Given the description of an element on the screen output the (x, y) to click on. 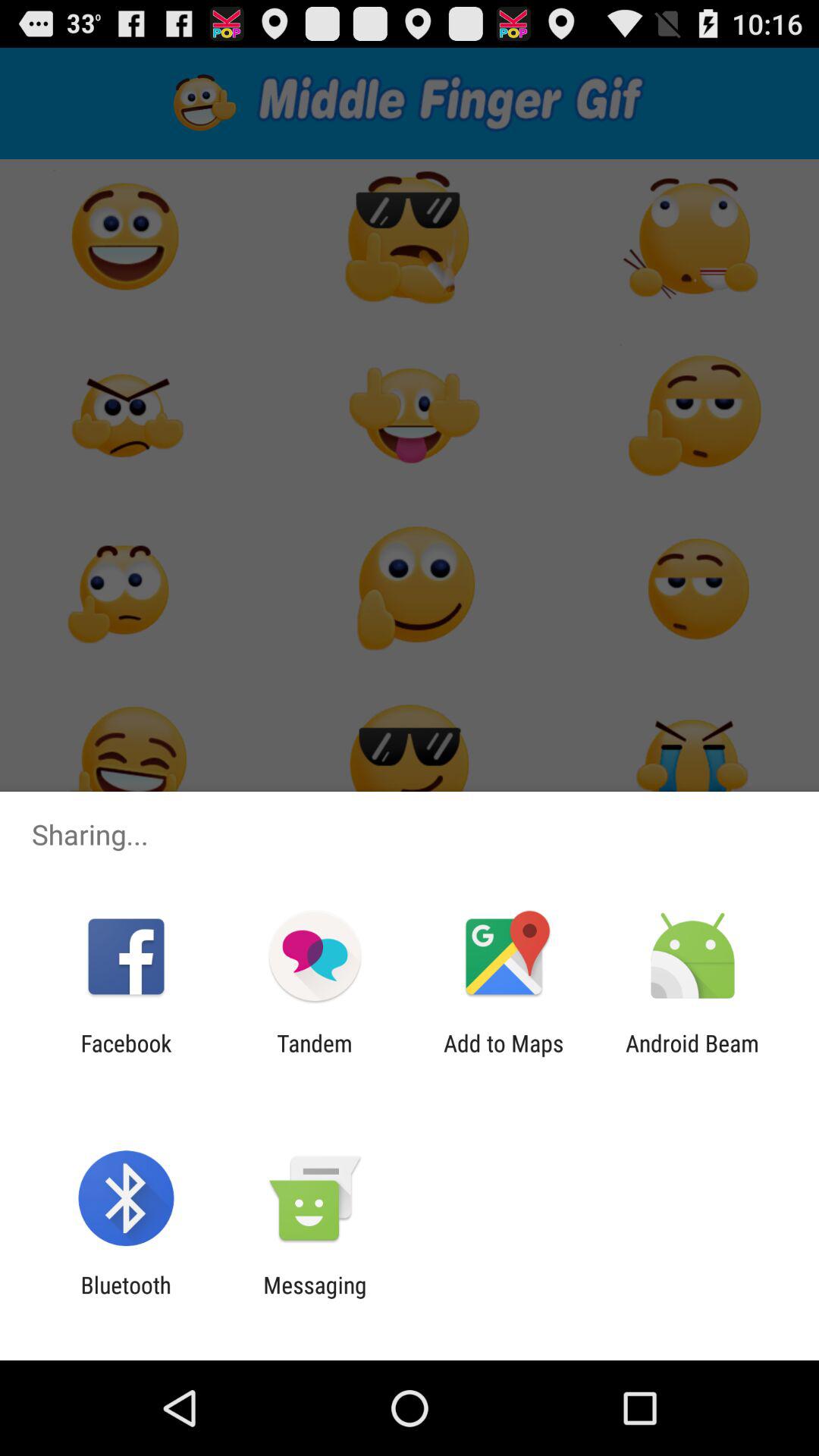
turn off the app next to the bluetooth item (314, 1298)
